Given the description of an element on the screen output the (x, y) to click on. 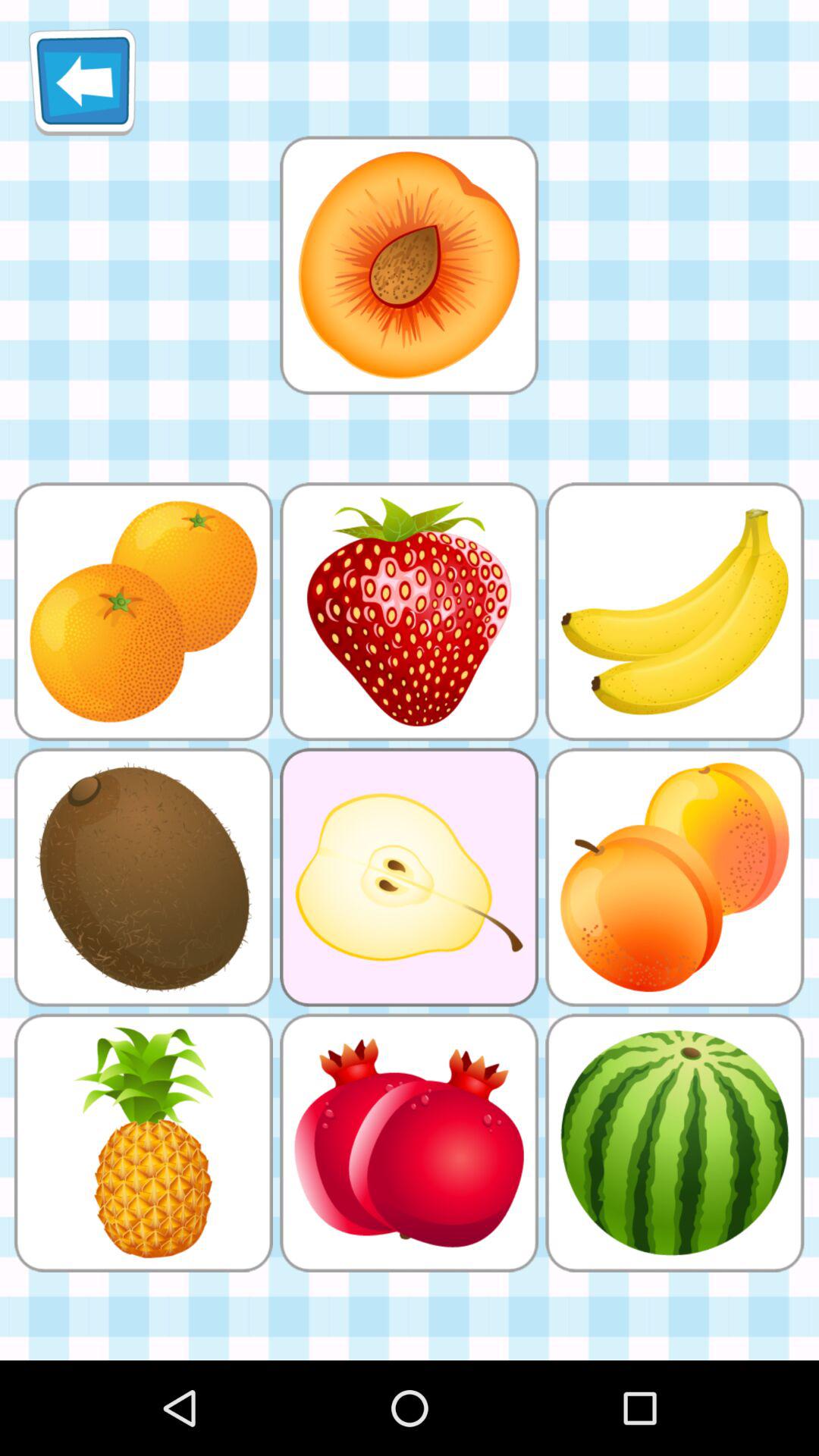
select fruit (409, 265)
